Given the description of an element on the screen output the (x, y) to click on. 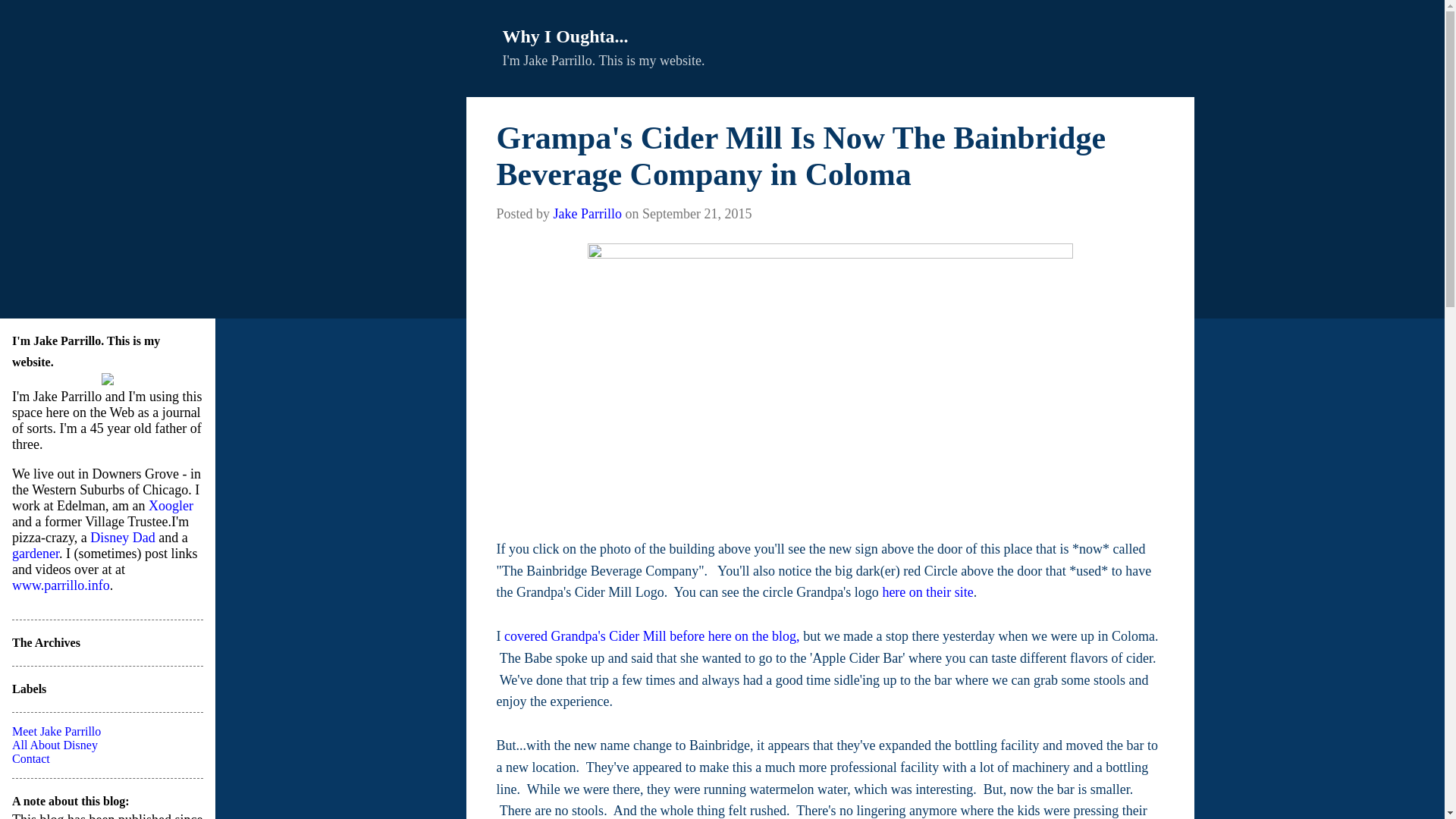
covered Grandpa's Cider Mill before here on the blog, (651, 635)
permanent link (696, 213)
here on their site (927, 591)
author profile (587, 213)
Why I Oughta... (564, 35)
Search (34, 18)
September 21, 2015 (696, 213)
Jake Parrillo (587, 213)
